Given the description of an element on the screen output the (x, y) to click on. 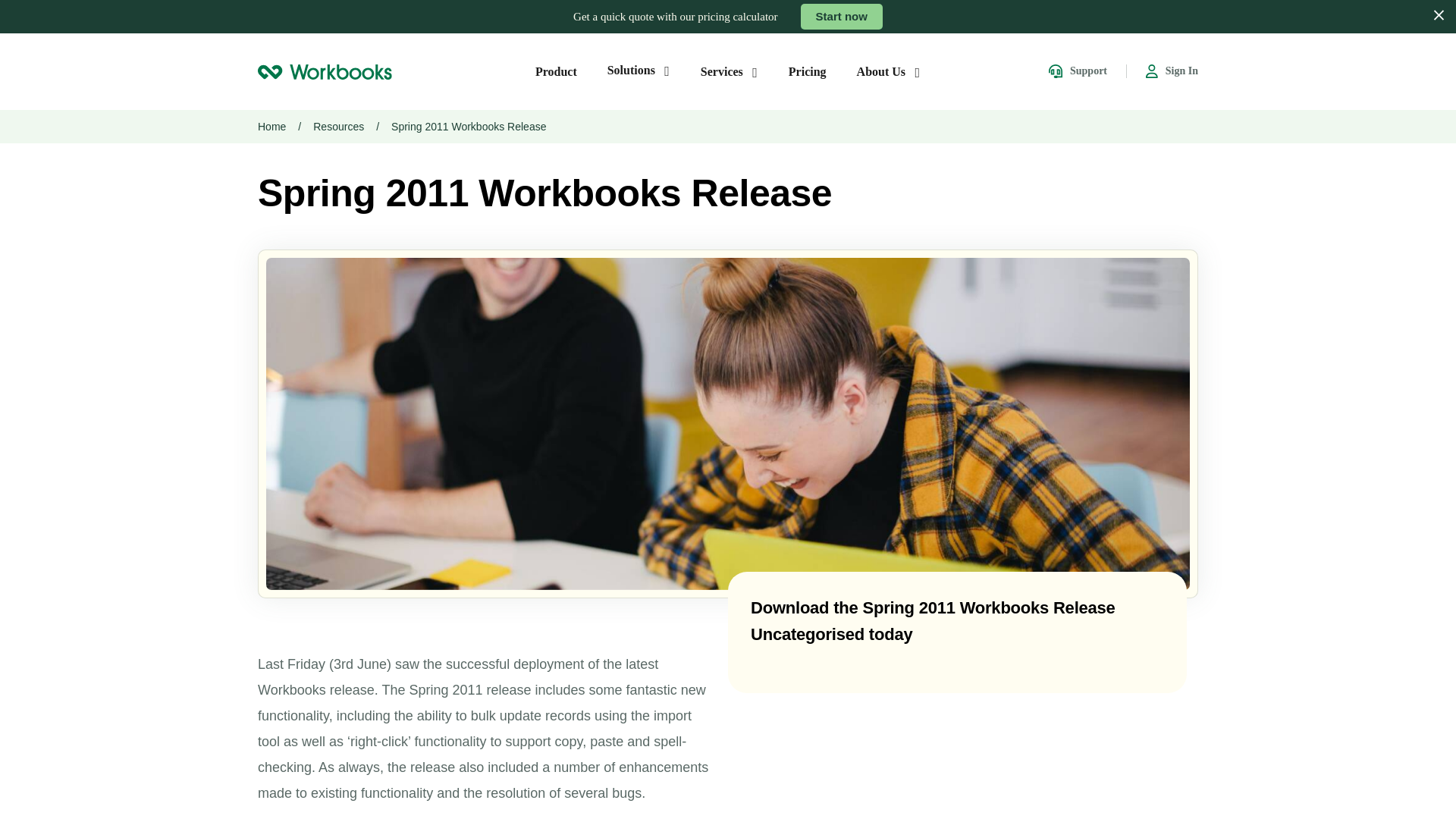
Pricing (808, 71)
About Us (888, 71)
Support (1077, 70)
Solutions (638, 69)
Product (555, 71)
Sign In (1171, 70)
Start now (841, 16)
Services (729, 71)
